Given the description of an element on the screen output the (x, y) to click on. 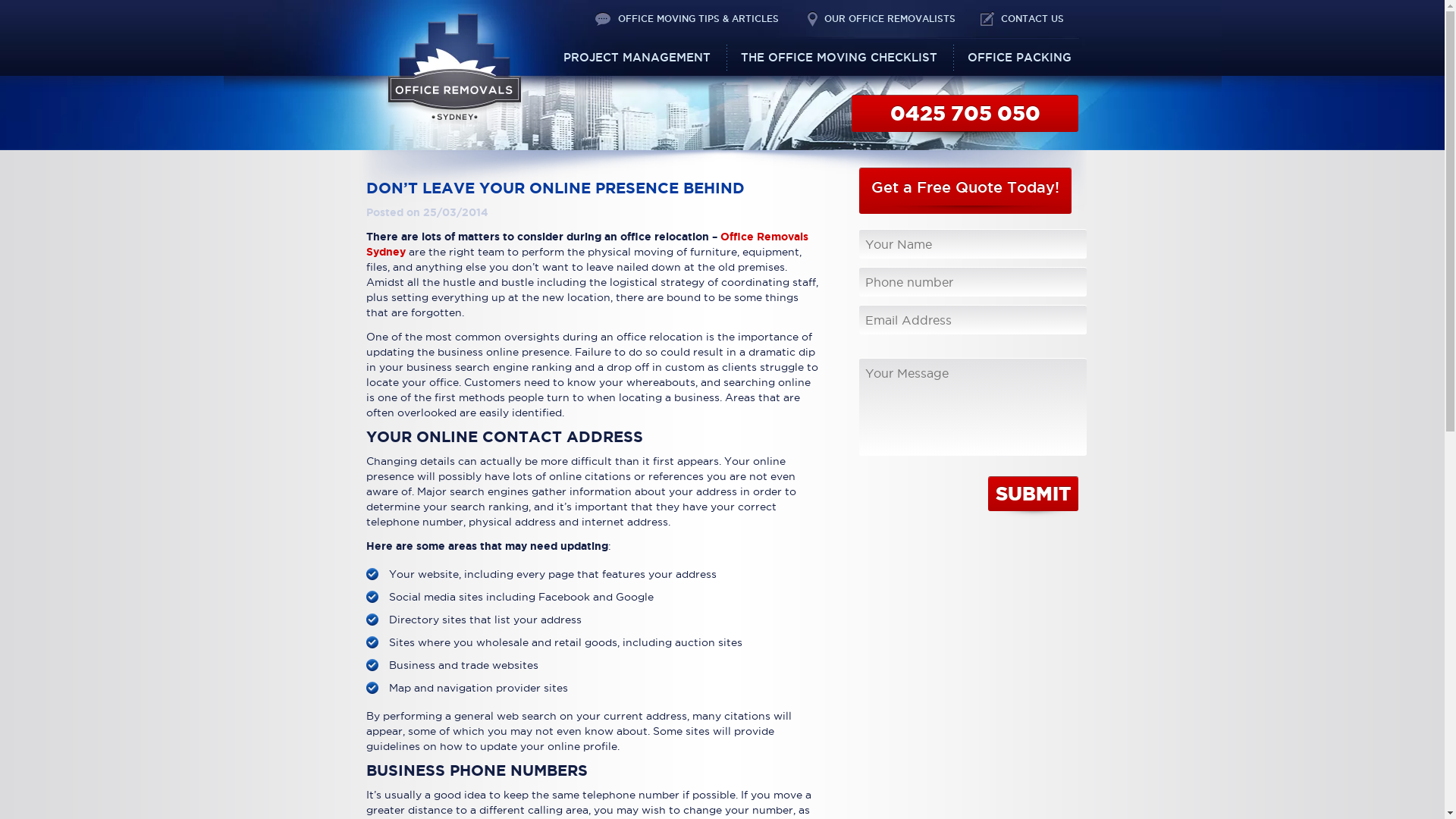
0425 705 050 Element type: text (965, 112)
PROJECT MANAGEMENT Element type: text (635, 56)
OUR OFFICE REMOVALISTS Element type: text (888, 18)
Office Removals Sydney Element type: text (586, 243)
OFFICE MOVING TIPS & ARTICLES Element type: text (697, 18)
CONTACT US Element type: text (1032, 18)
OFFICE PACKING Element type: text (1019, 56)
THE OFFICE MOVING CHECKLIST Element type: text (837, 56)
submit Element type: text (1032, 493)
